Given the description of an element on the screen output the (x, y) to click on. 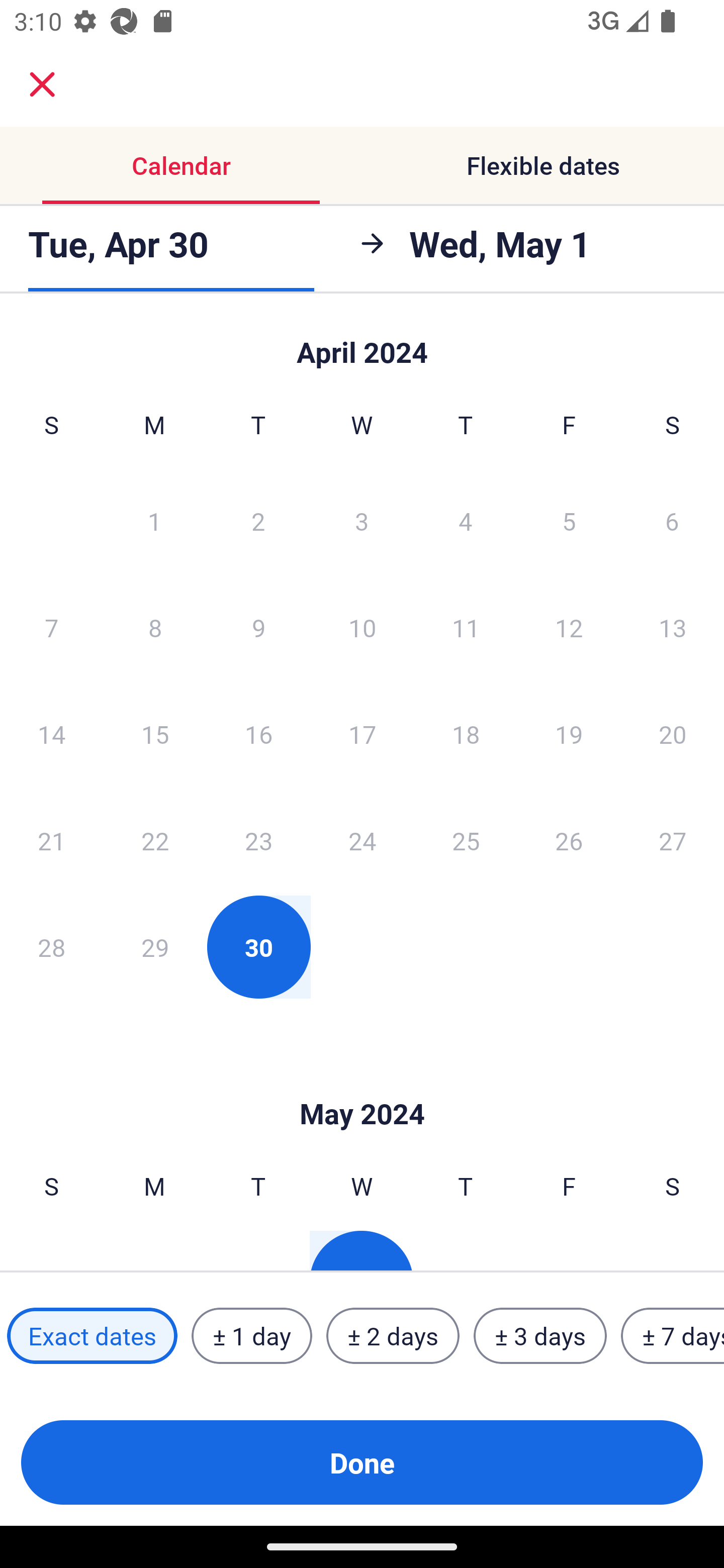
close. (42, 84)
Flexible dates (542, 164)
Skip to Done (362, 343)
1 Monday, April 1, 2024 (154, 520)
2 Tuesday, April 2, 2024 (257, 520)
3 Wednesday, April 3, 2024 (361, 520)
4 Thursday, April 4, 2024 (465, 520)
5 Friday, April 5, 2024 (568, 520)
6 Saturday, April 6, 2024 (672, 520)
7 Sunday, April 7, 2024 (51, 626)
8 Monday, April 8, 2024 (155, 626)
9 Tuesday, April 9, 2024 (258, 626)
10 Wednesday, April 10, 2024 (362, 626)
11 Thursday, April 11, 2024 (465, 626)
12 Friday, April 12, 2024 (569, 626)
13 Saturday, April 13, 2024 (672, 626)
14 Sunday, April 14, 2024 (51, 733)
15 Monday, April 15, 2024 (155, 733)
16 Tuesday, April 16, 2024 (258, 733)
17 Wednesday, April 17, 2024 (362, 733)
18 Thursday, April 18, 2024 (465, 733)
19 Friday, April 19, 2024 (569, 733)
20 Saturday, April 20, 2024 (672, 733)
21 Sunday, April 21, 2024 (51, 840)
22 Monday, April 22, 2024 (155, 840)
23 Tuesday, April 23, 2024 (258, 840)
24 Wednesday, April 24, 2024 (362, 840)
25 Thursday, April 25, 2024 (465, 840)
26 Friday, April 26, 2024 (569, 840)
27 Saturday, April 27, 2024 (672, 840)
28 Sunday, April 28, 2024 (51, 946)
29 Monday, April 29, 2024 (155, 946)
Skip to Done (362, 1083)
Exact dates (92, 1335)
± 1 day (251, 1335)
± 2 days (392, 1335)
± 3 days (539, 1335)
± 7 days (672, 1335)
Done (361, 1462)
